Given the description of an element on the screen output the (x, y) to click on. 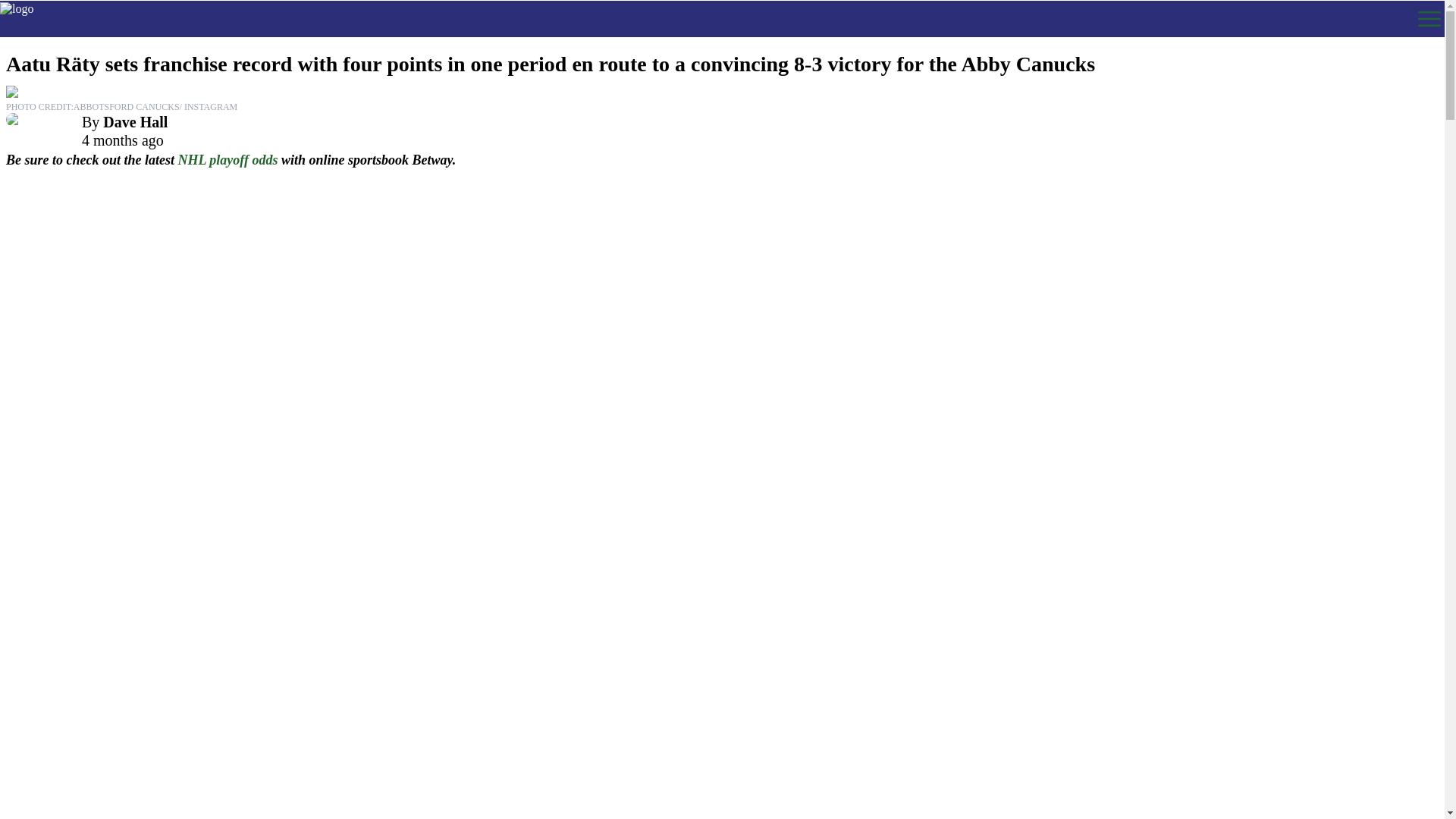
NHL playoff odds (227, 159)
Dave Hall (135, 121)
